Given the description of an element on the screen output the (x, y) to click on. 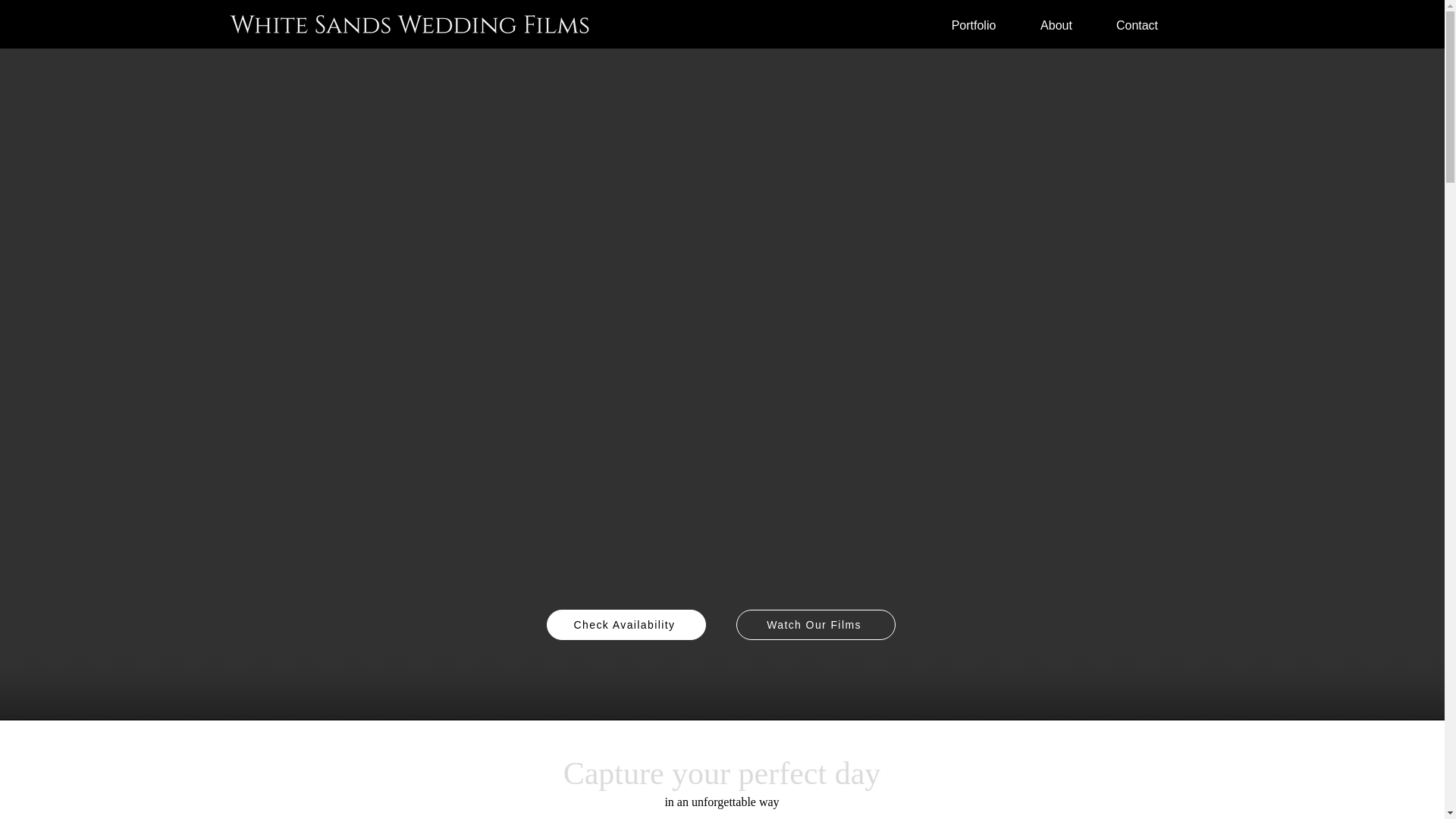
About (1055, 25)
Portfolio (973, 25)
Contact (1136, 25)
Check Availability (625, 624)
Watch Our Films (815, 624)
